Given the description of an element on the screen output the (x, y) to click on. 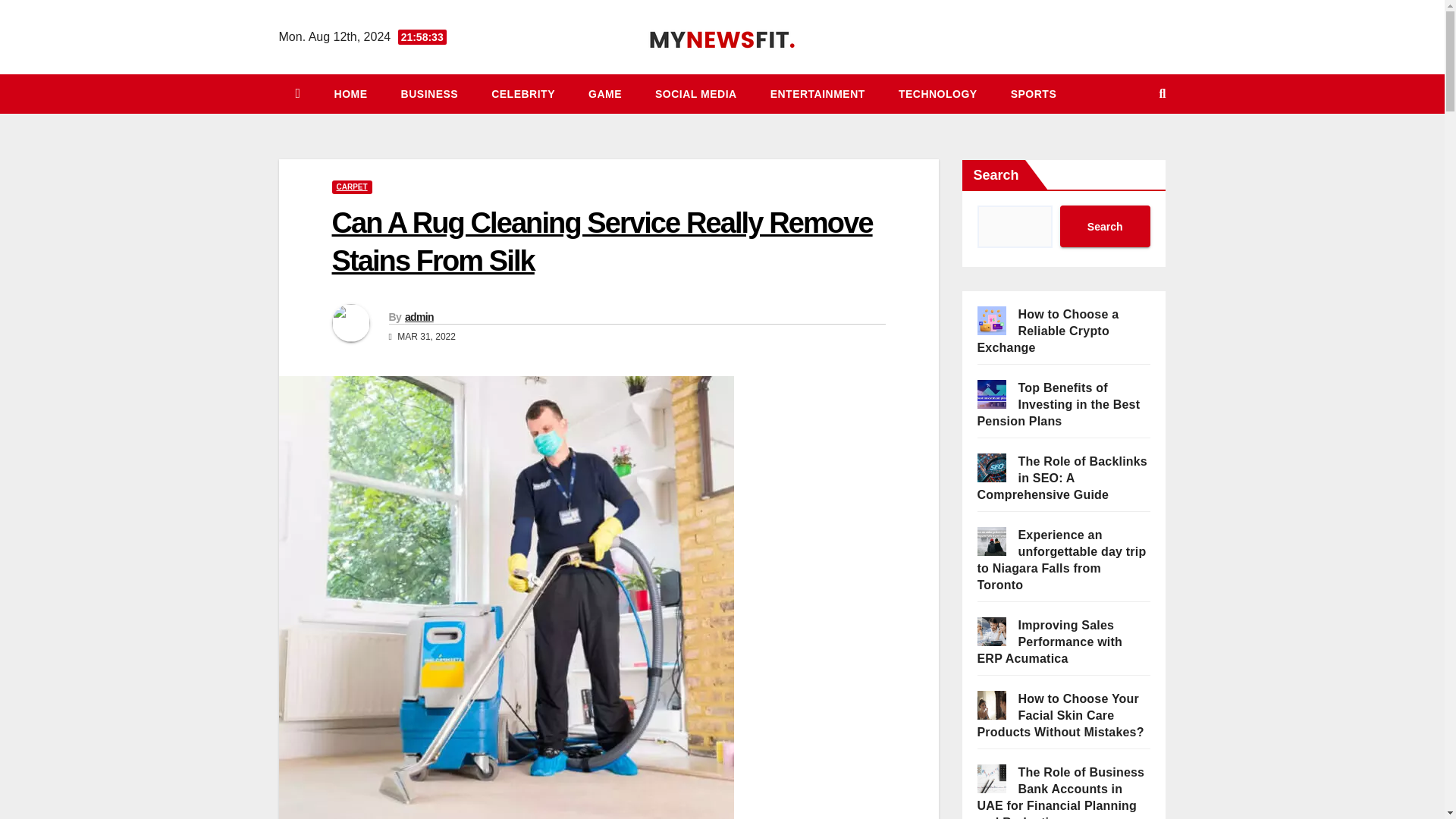
CARPET (351, 187)
Celebrity (523, 93)
Technology (938, 93)
Home (350, 93)
SOCIAL MEDIA (696, 93)
Can A Rug Cleaning Service Really Remove Stains From Silk (601, 241)
Business (430, 93)
TECHNOLOGY (938, 93)
Game (605, 93)
ENTERTAINMENT (818, 93)
